Given the description of an element on the screen output the (x, y) to click on. 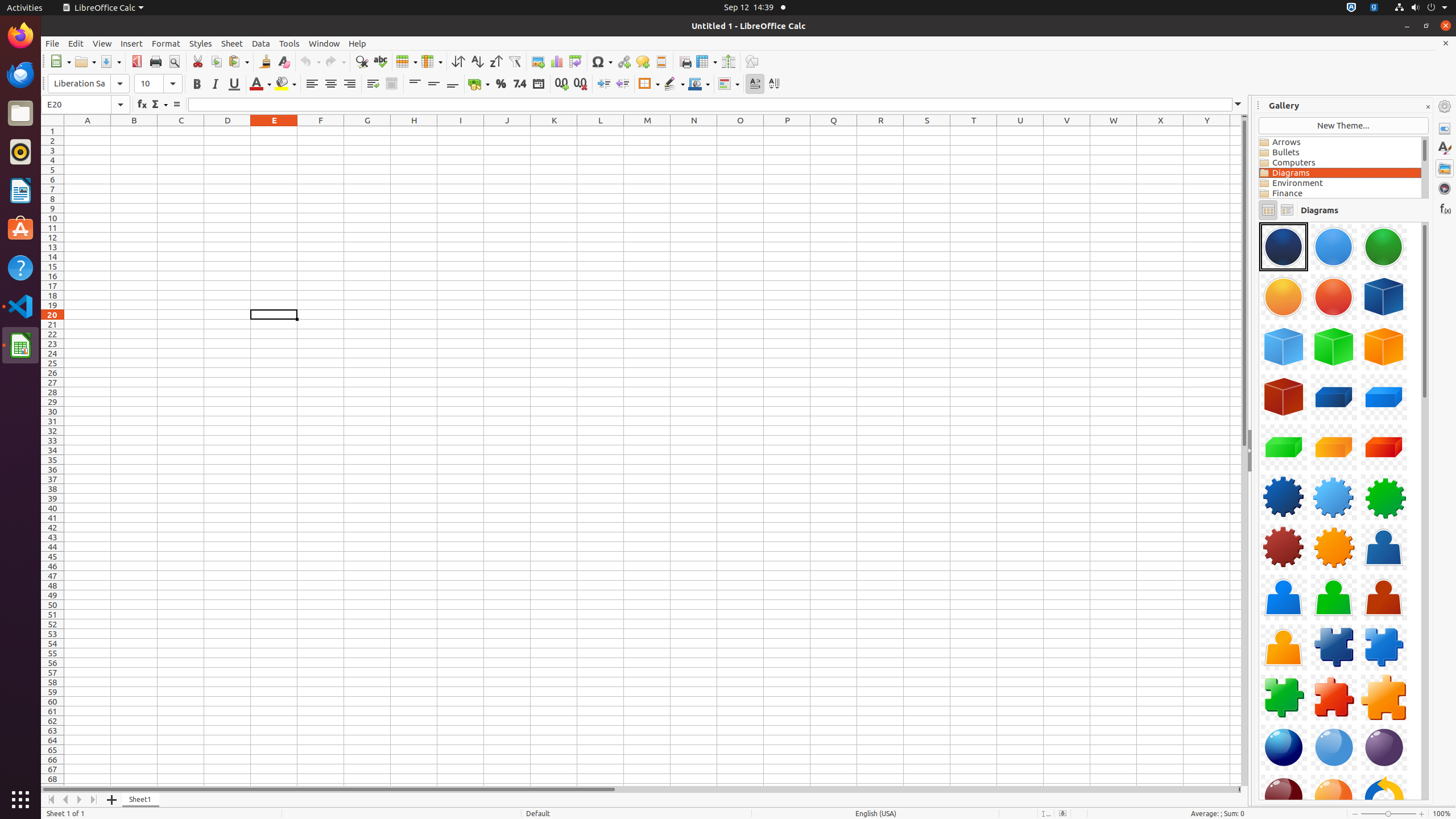
Component-Person01-DarkBlue Element type: list-item (1383, 546)
Clone Element type: push-button (264, 61)
Name Box Element type: combo-box (85, 104)
Chart Element type: push-button (556, 61)
Border Style Element type: push-button (673, 83)
